Given the description of an element on the screen output the (x, y) to click on. 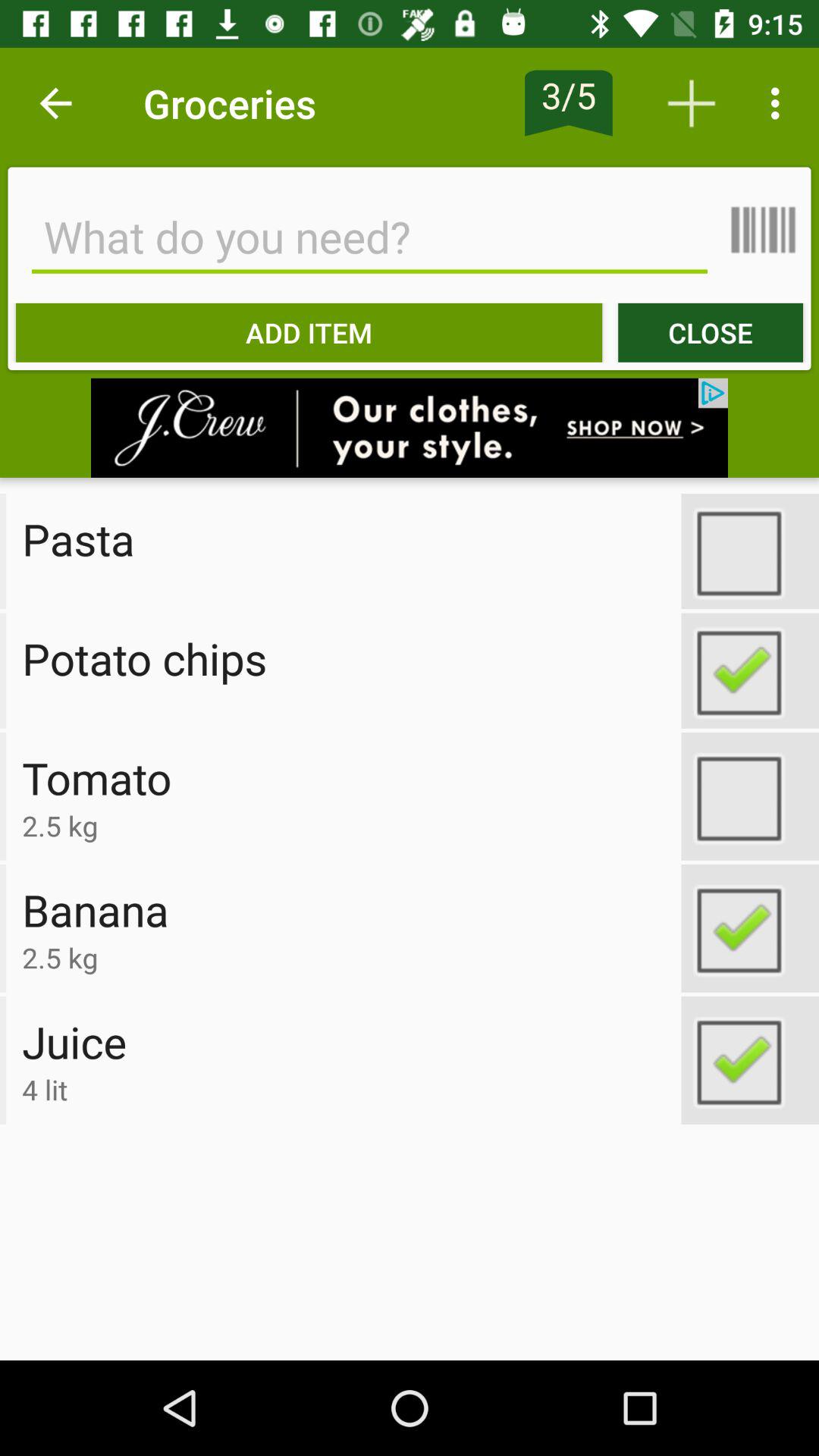
select option (750, 796)
